Given the description of an element on the screen output the (x, y) to click on. 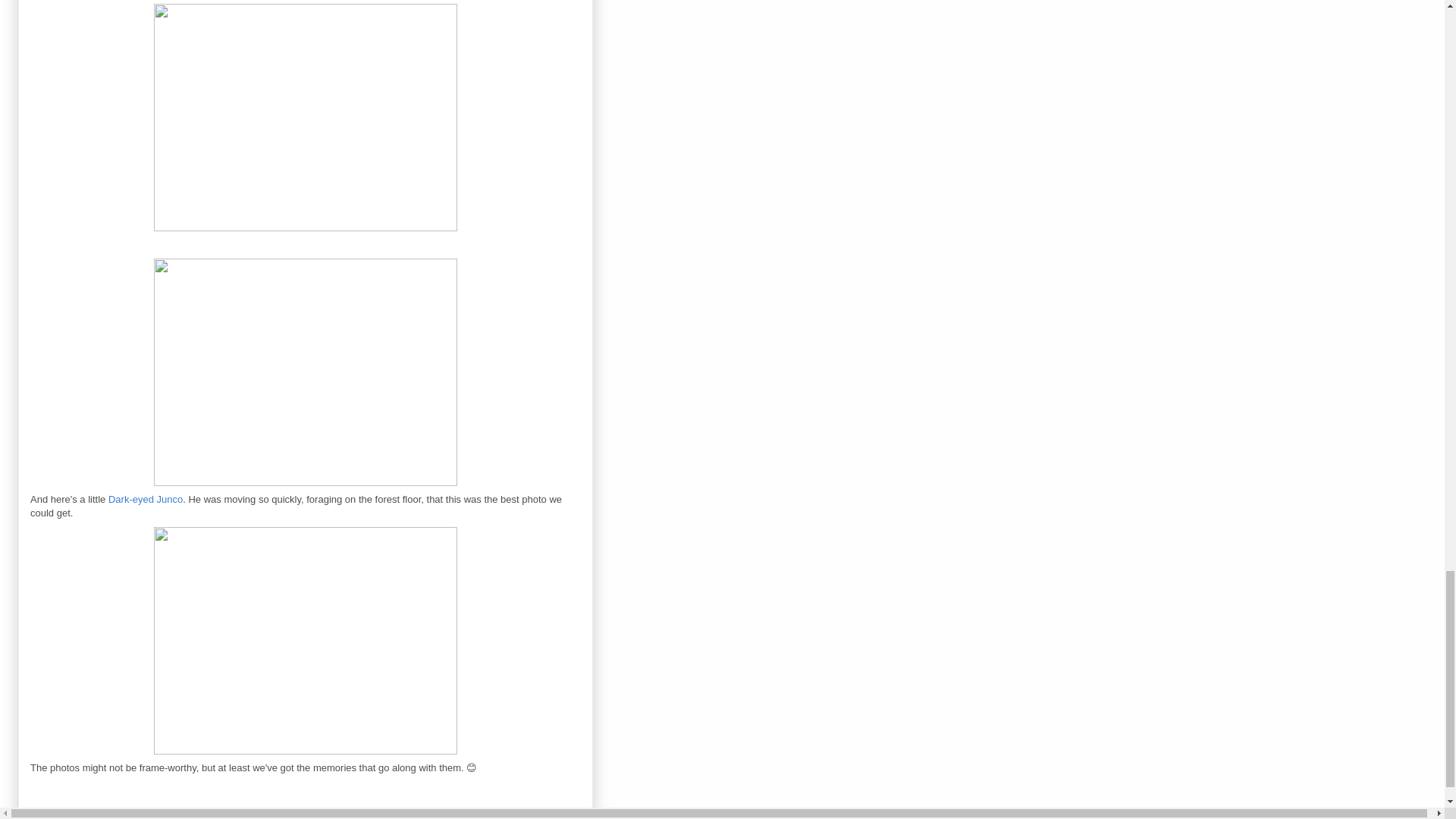
Dark-eyed Junco at Lassen Volcanic National Park California (305, 640)
birds at Lassen Volcanic National Park California (305, 372)
woodpeckers at Lassen Volcanic National Park California (305, 119)
Dark-eyed Junco (145, 499)
